Given the description of an element on the screen output the (x, y) to click on. 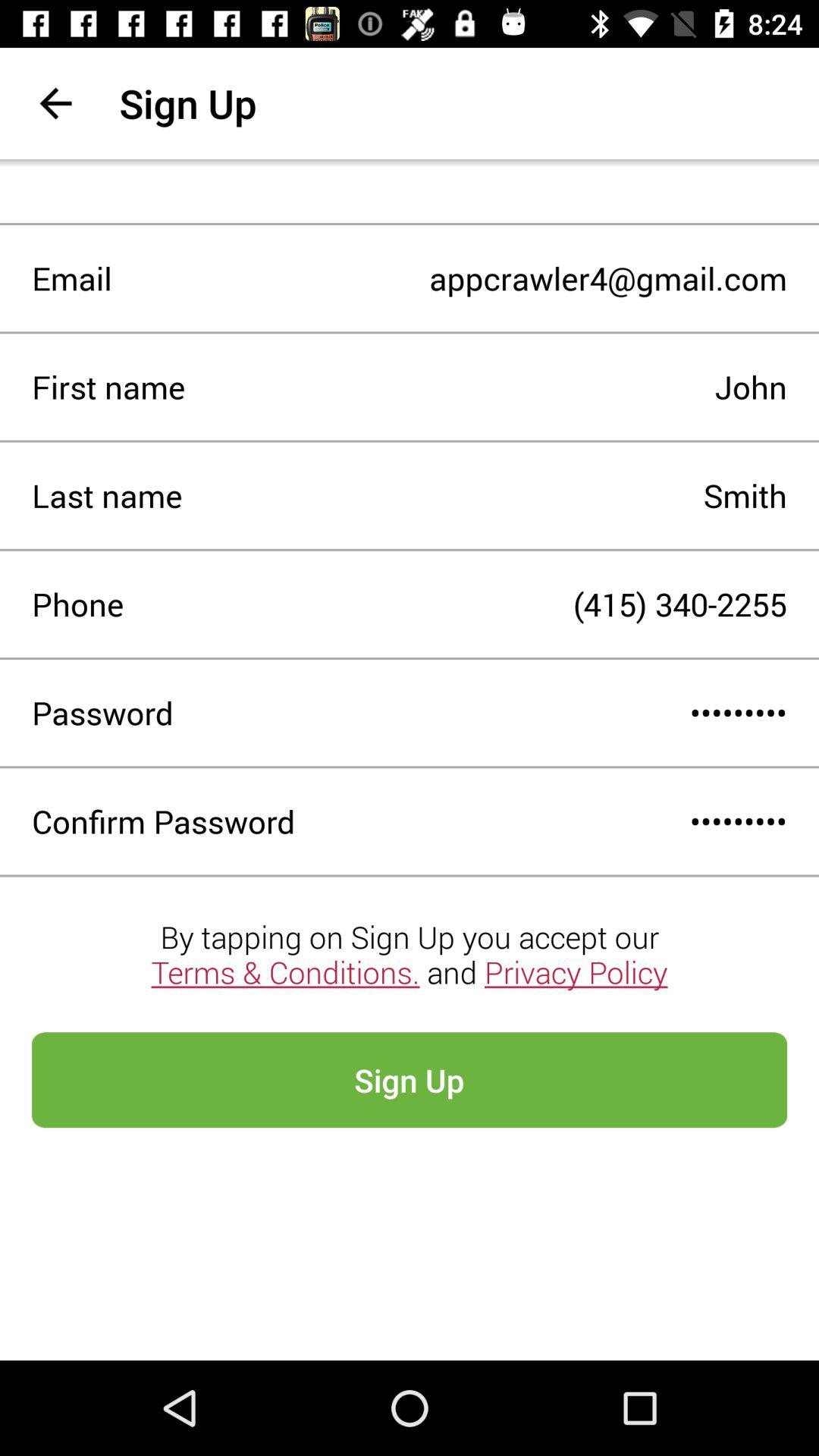
turn off icon next to the last name icon (484, 495)
